Given the description of an element on the screen output the (x, y) to click on. 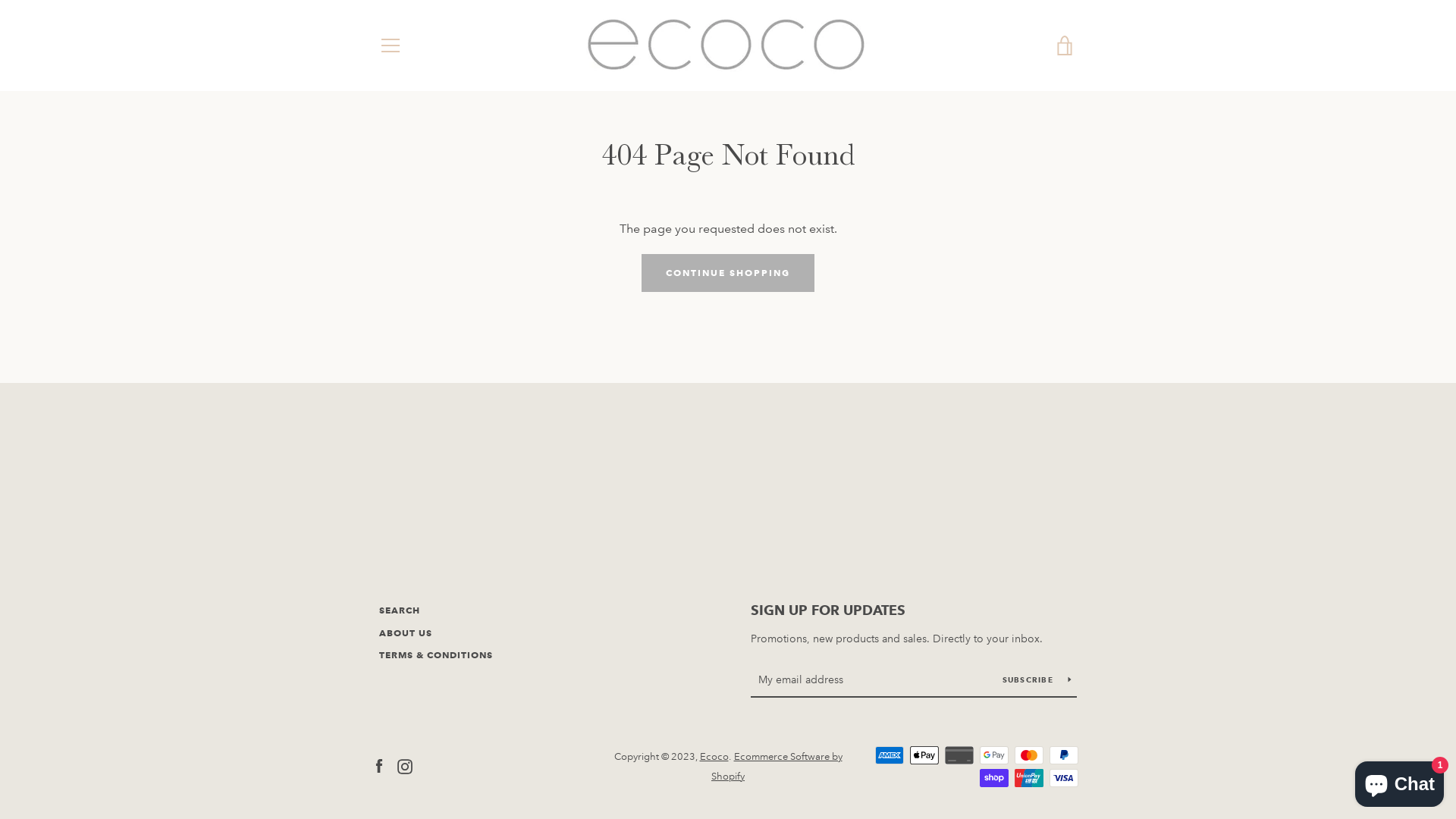
Shopify online store chat Element type: hover (1399, 780)
VIEW CART Element type: text (1065, 45)
Instagram Element type: text (404, 765)
Ecoco Element type: text (713, 756)
ABOUT US Element type: text (405, 632)
Facebook Element type: text (378, 765)
MENU Element type: text (390, 45)
SEARCH Element type: text (399, 609)
SUBSCRIBE Element type: text (1036, 679)
TERMS & CONDITIONS Element type: text (435, 654)
Skip to content Element type: text (0, 0)
Ecommerce Software by Shopify Element type: text (776, 766)
CONTINUE SHOPPING Element type: text (727, 272)
